Given the description of an element on the screen output the (x, y) to click on. 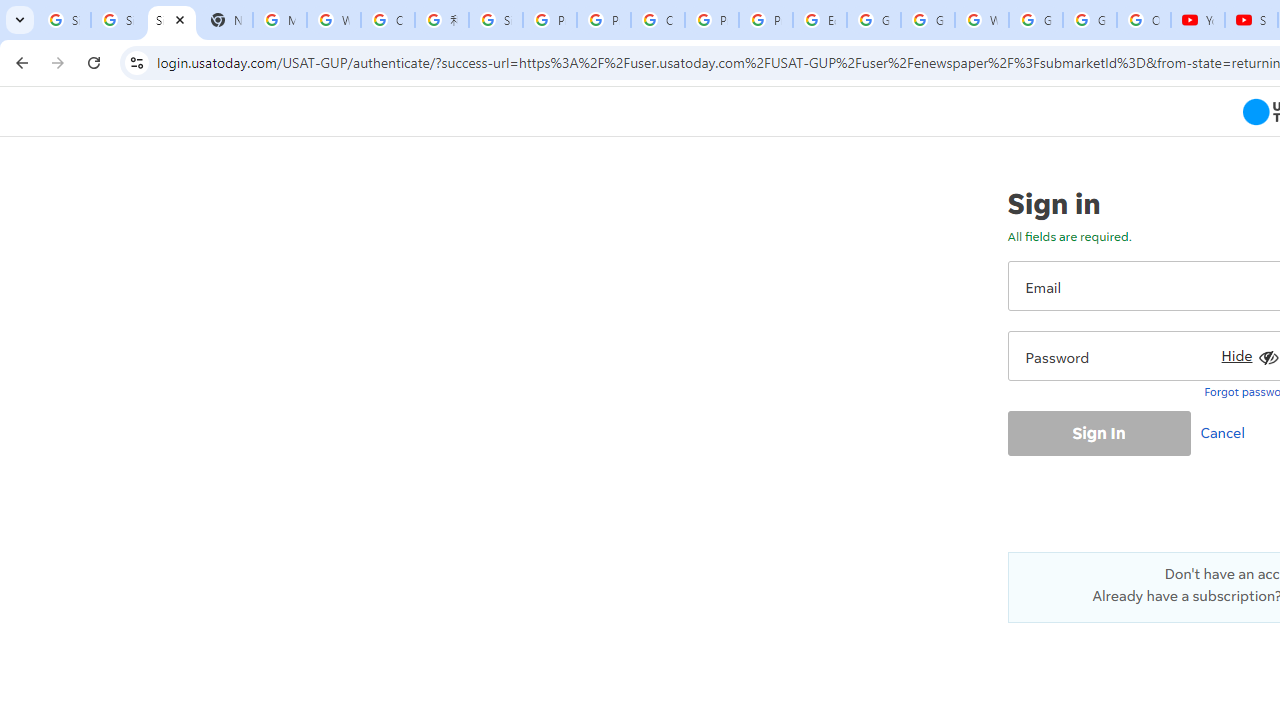
Back (19, 62)
Create your Google Account (387, 20)
New Tab (225, 20)
Edit and view right-to-left text - Google Docs Editors Help (819, 20)
Sign in - Google Accounts (495, 20)
Reload (93, 62)
Search tabs (20, 20)
Sign In (1098, 432)
Google Account (1089, 20)
Cancel (1227, 431)
YouTube (1197, 20)
Sign in - Google Accounts (63, 20)
